Given the description of an element on the screen output the (x, y) to click on. 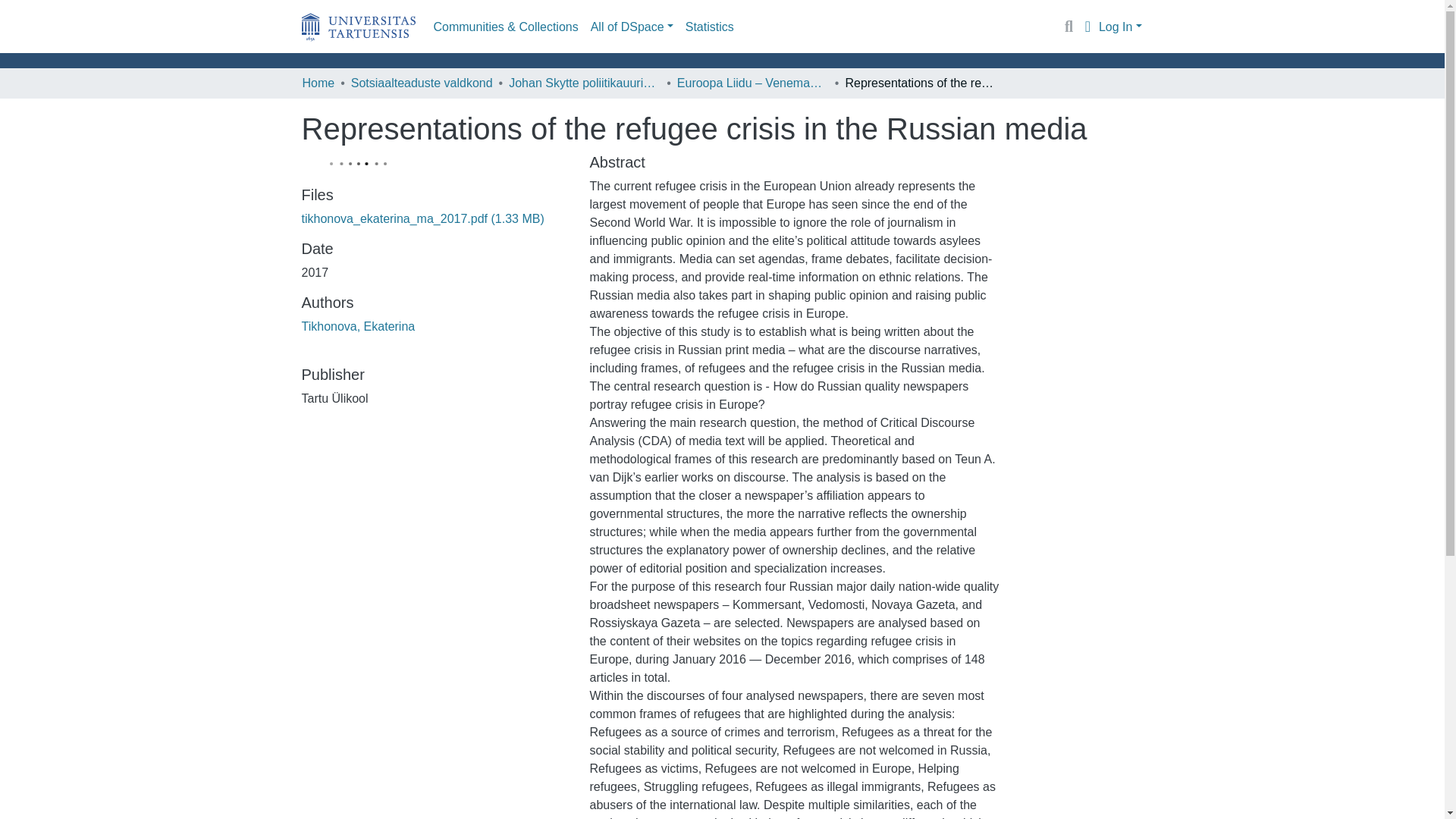
Tikhonova, Ekaterina (357, 326)
Johan Skytte poliitikauuringute instituut (584, 83)
Search (1068, 27)
Log In (1119, 25)
Language switch (1087, 27)
Statistics (709, 27)
Home (317, 83)
Sotsiaalteaduste valdkond (421, 83)
Statistics (709, 27)
All of DSpace (632, 27)
